Given the description of an element on the screen output the (x, y) to click on. 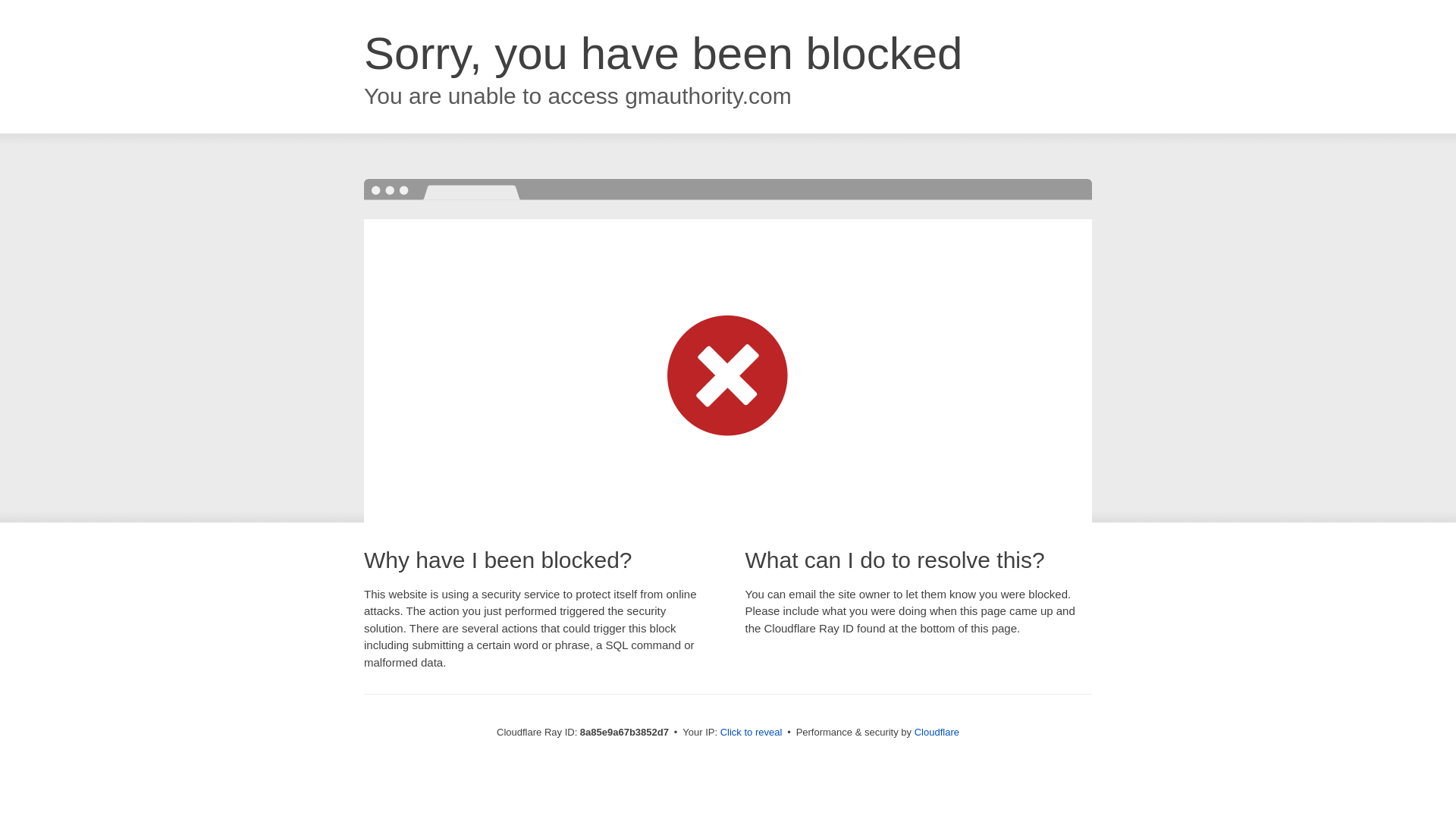
Click to reveal (751, 732)
Cloudflare (936, 731)
